Given the description of an element on the screen output the (x, y) to click on. 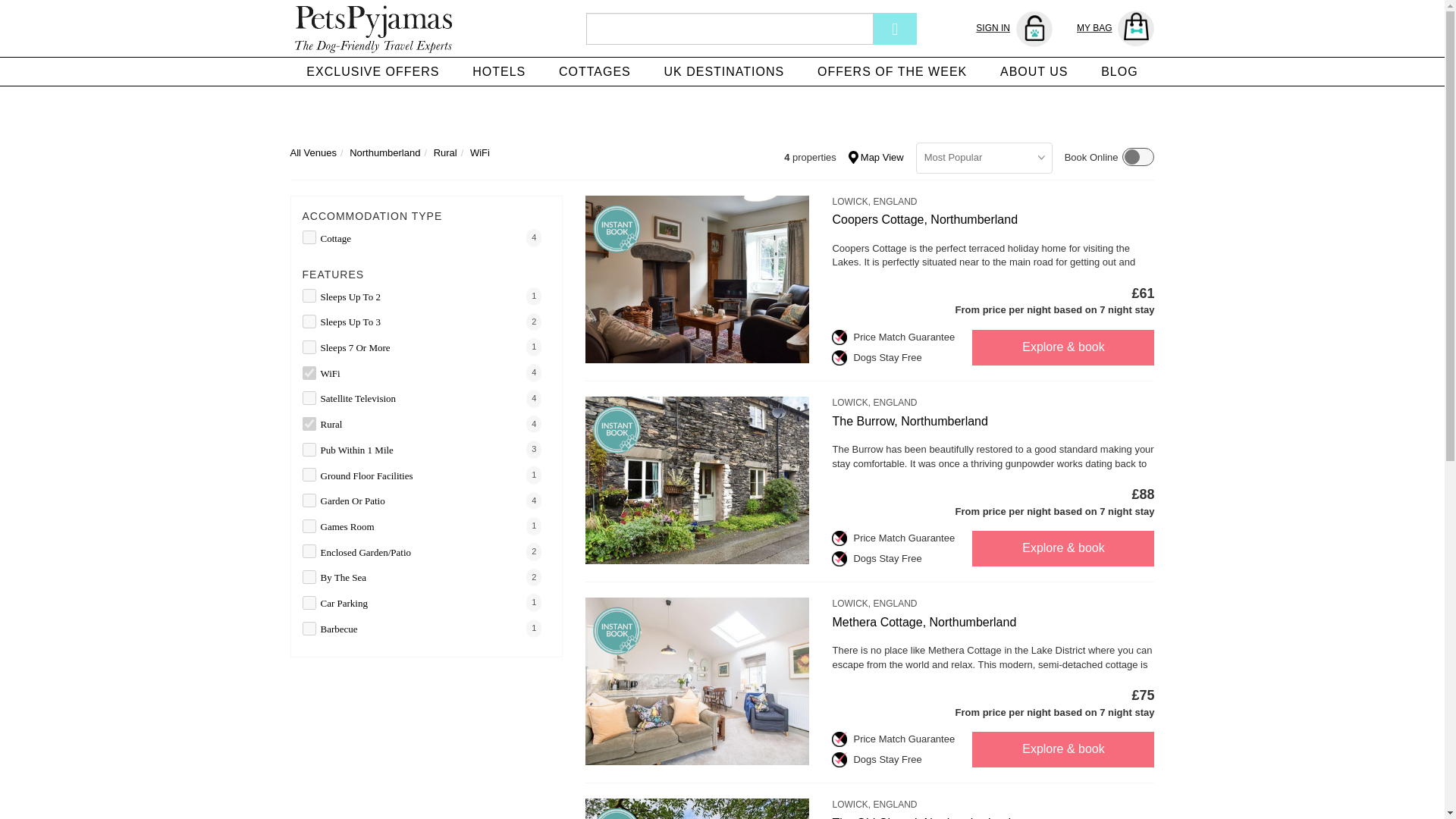
on (308, 449)
HOTELS (498, 71)
on (308, 372)
on (308, 423)
MY BAG (1115, 28)
on (308, 499)
on (308, 237)
SIGN IN (1013, 28)
on (308, 321)
on (308, 526)
on (308, 474)
on (308, 576)
on (308, 346)
on (308, 602)
on (308, 397)
